Given the description of an element on the screen output the (x, y) to click on. 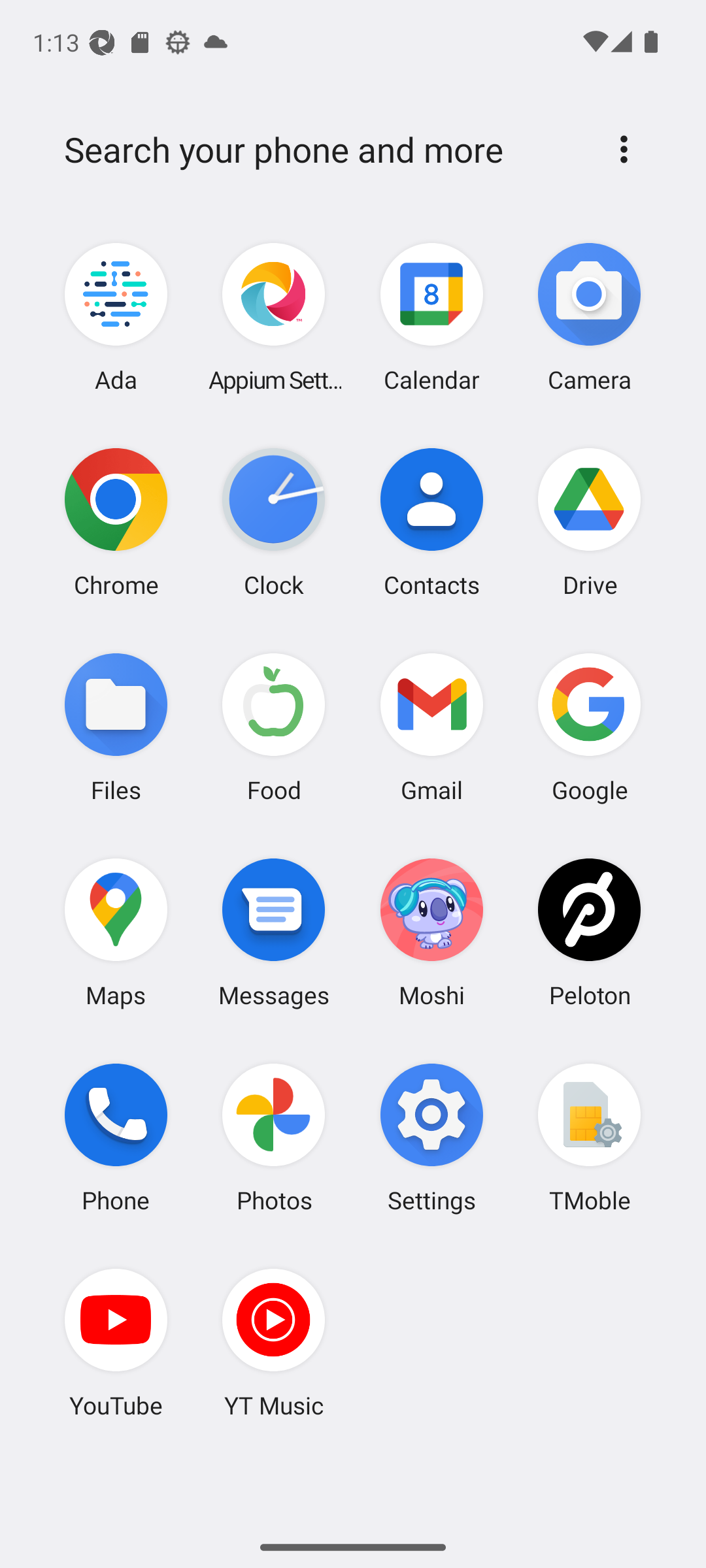
Search your phone and more (321, 149)
Preferences (623, 149)
Ada (115, 317)
Appium Settings (273, 317)
Calendar (431, 317)
Camera (589, 317)
Chrome (115, 522)
Clock (273, 522)
Contacts (431, 522)
Drive (589, 522)
Files (115, 726)
Food (273, 726)
Gmail (431, 726)
Google (589, 726)
Maps (115, 931)
Messages (273, 931)
Moshi (431, 931)
Peloton (589, 931)
Phone (115, 1137)
Photos (273, 1137)
Settings (431, 1137)
TMoble (589, 1137)
YouTube (115, 1342)
YT Music (273, 1342)
